Given the description of an element on the screen output the (x, y) to click on. 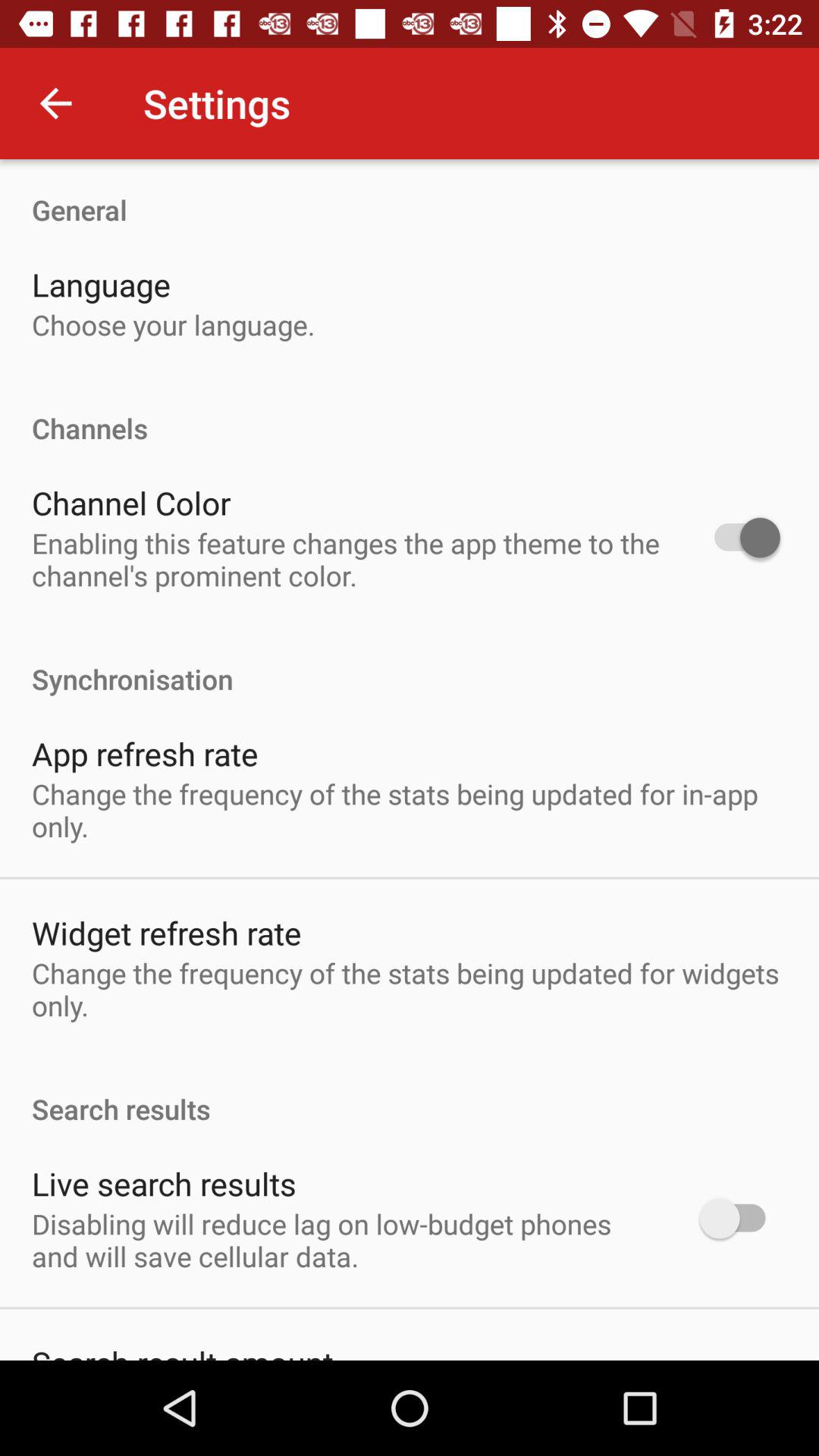
open the icon below choose your language. (409, 412)
